Given the description of an element on the screen output the (x, y) to click on. 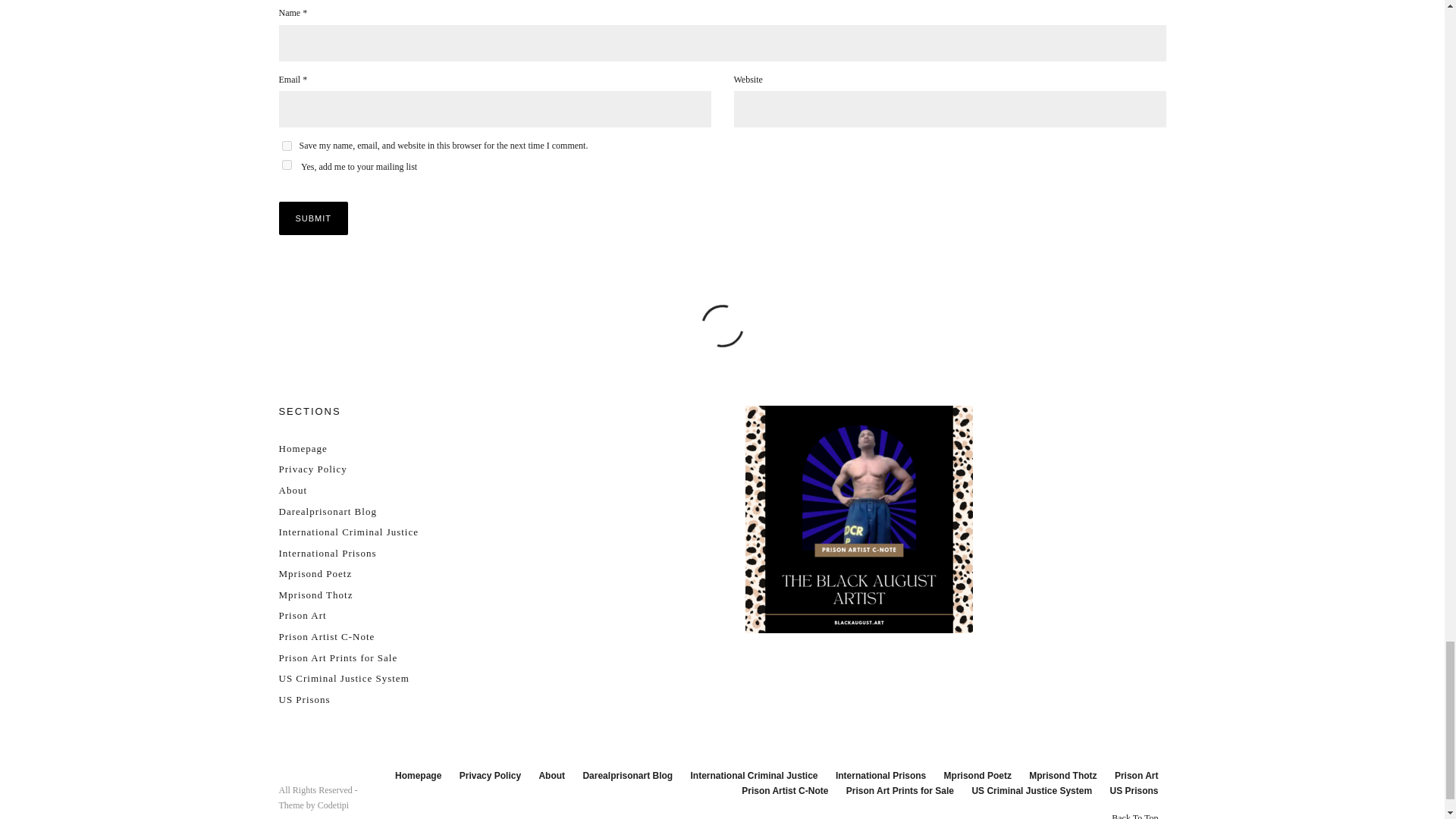
yes (287, 145)
1 (287, 164)
Submit (314, 218)
